Given the description of an element on the screen output the (x, y) to click on. 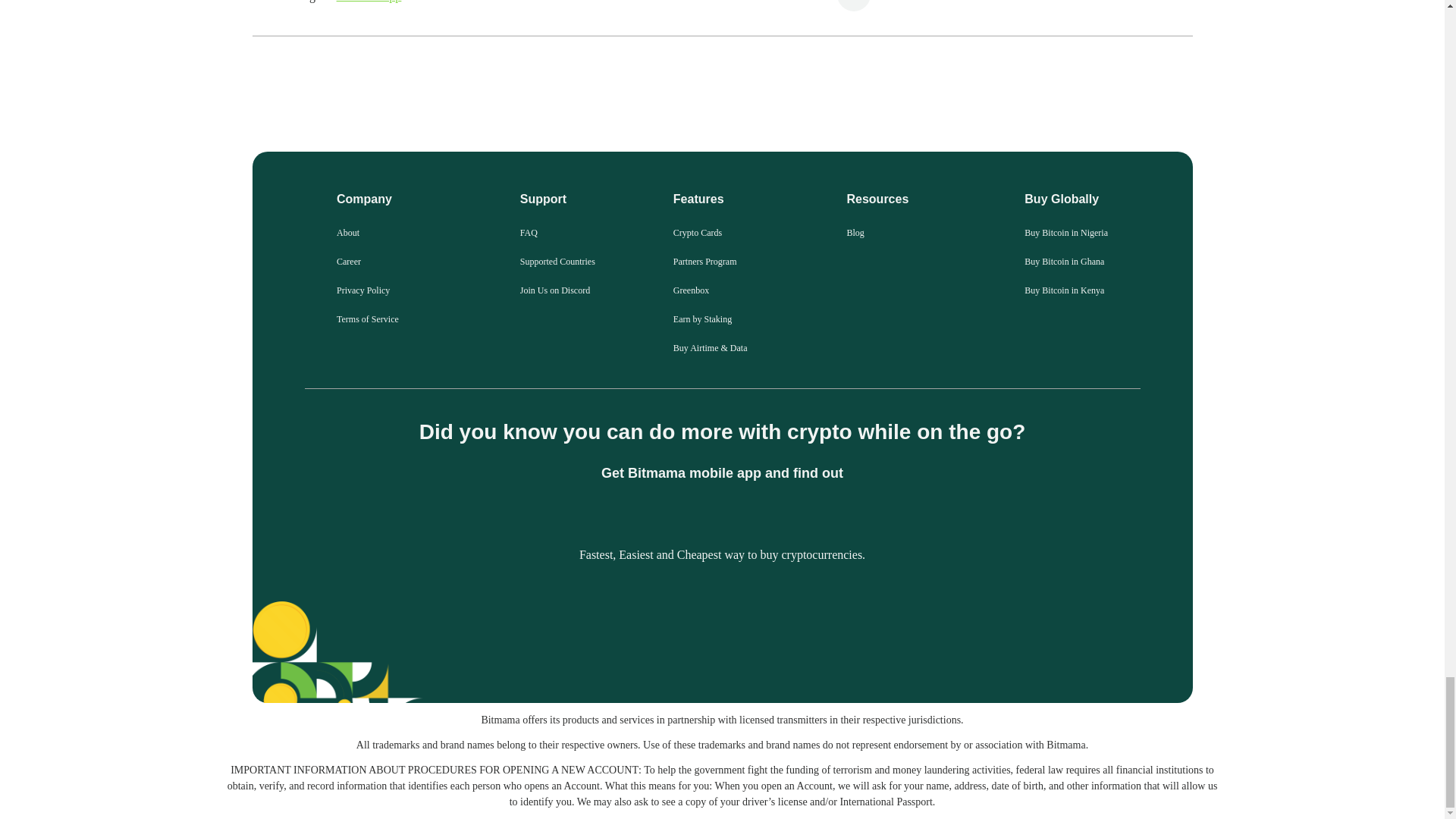
FAQ (528, 232)
Greenbox (690, 290)
Buy Bitcoin in Ghana (1064, 261)
Privacy Policy (363, 290)
Earn by Staking (702, 318)
Partners Program (704, 261)
About (347, 232)
Join Us on Discord (554, 290)
Bitmama app (368, 1)
Supported Countries (557, 261)
Buy Bitcoin in Nigeria (1066, 232)
Blog (854, 232)
Crypto Cards (697, 232)
Terms of Service (367, 318)
Career (348, 261)
